Given the description of an element on the screen output the (x, y) to click on. 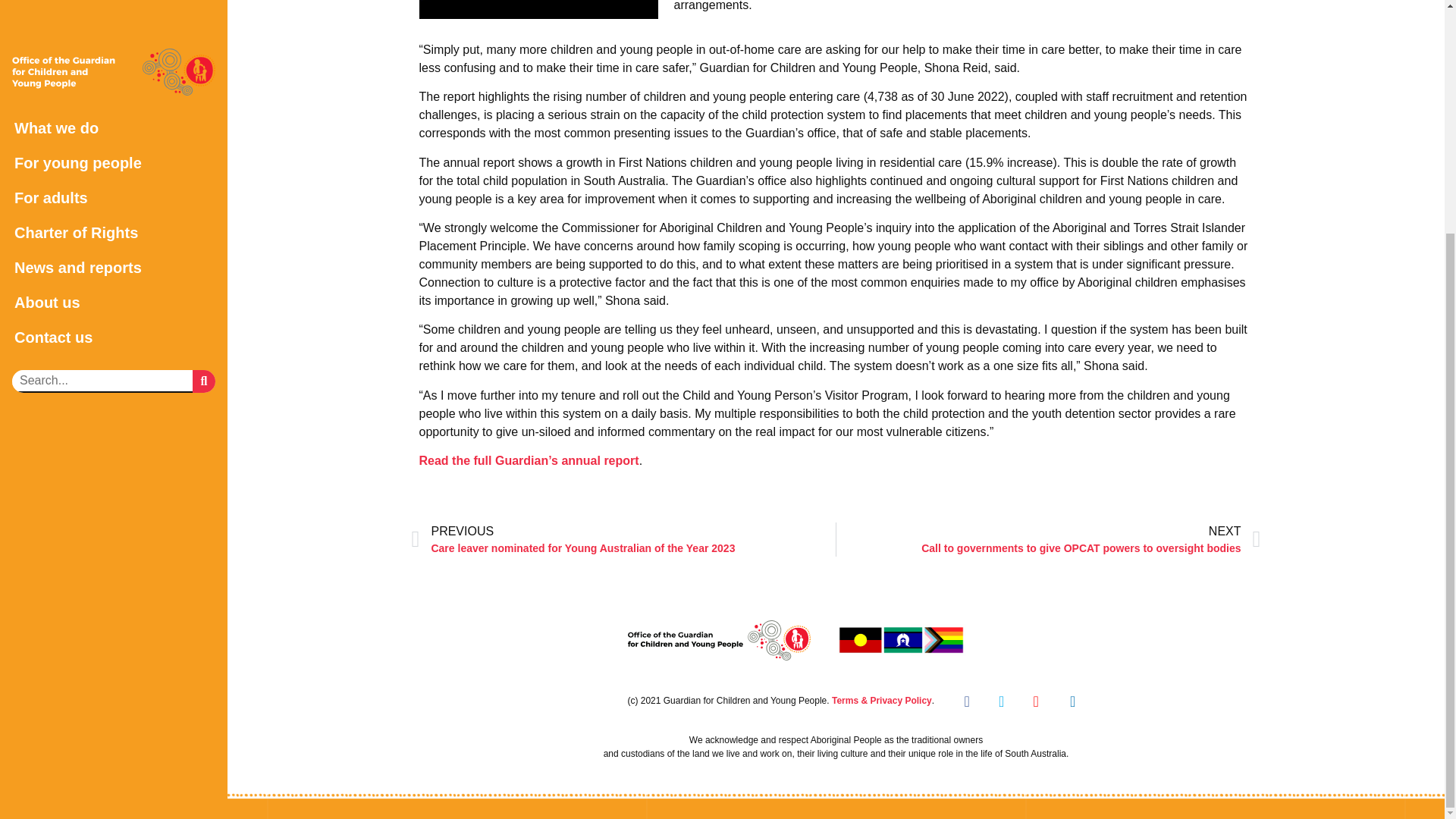
About us (113, 1)
Contact us (113, 19)
